Given the description of an element on the screen output the (x, y) to click on. 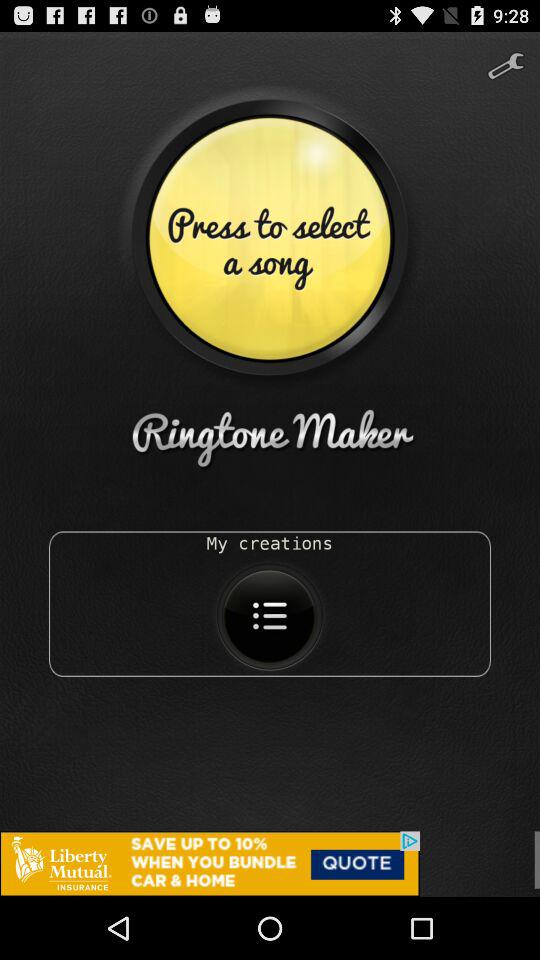
tools (505, 58)
